Given the description of an element on the screen output the (x, y) to click on. 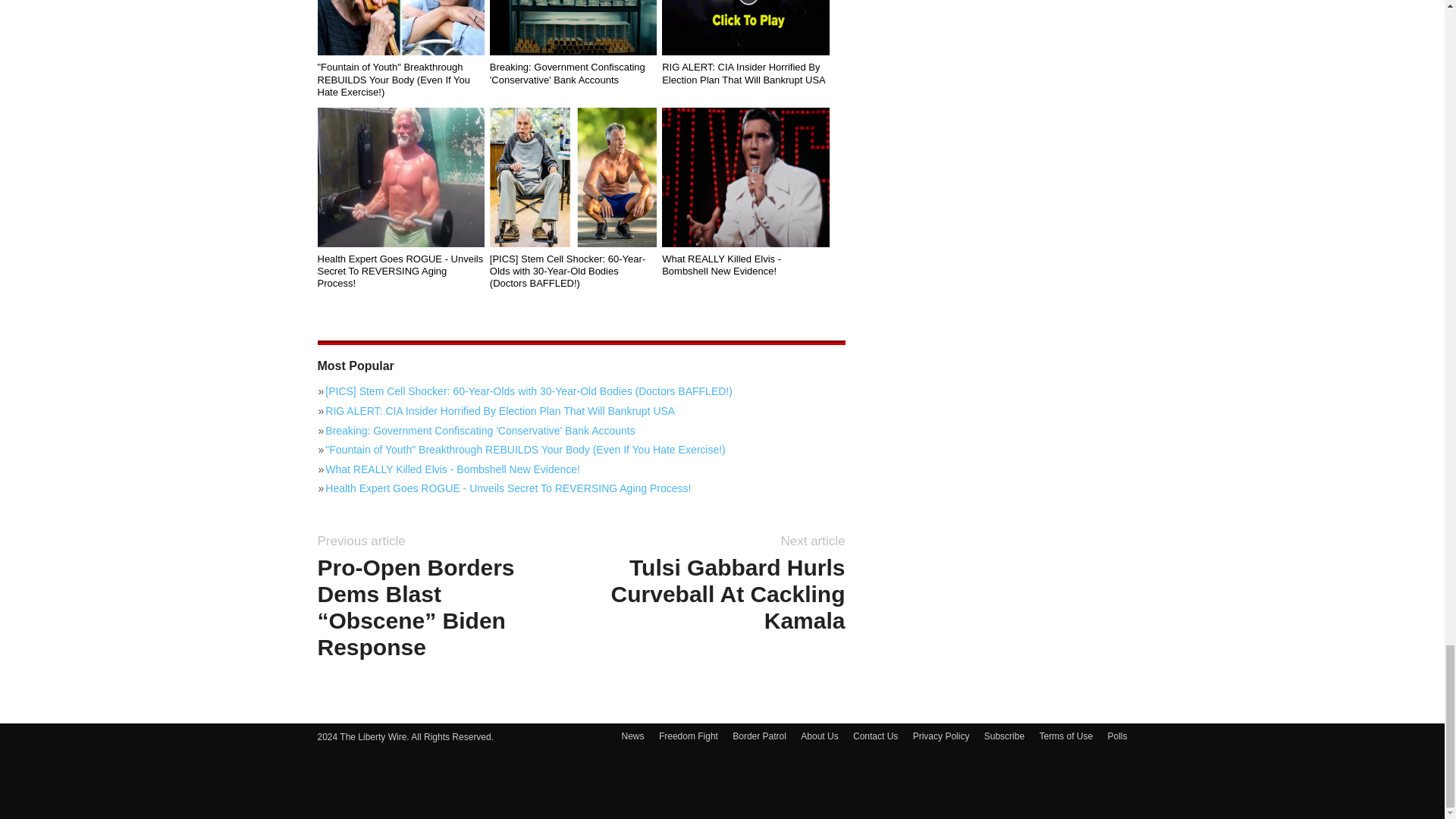
What REALLY Killed Elvis - Bombshell New Evidence! (580, 469)
What REALLY Killed Elvis - Bombshell New Evidence! (745, 265)
What REALLY Killed Elvis - Bombshell New Evidence! (745, 177)
